Given the description of an element on the screen output the (x, y) to click on. 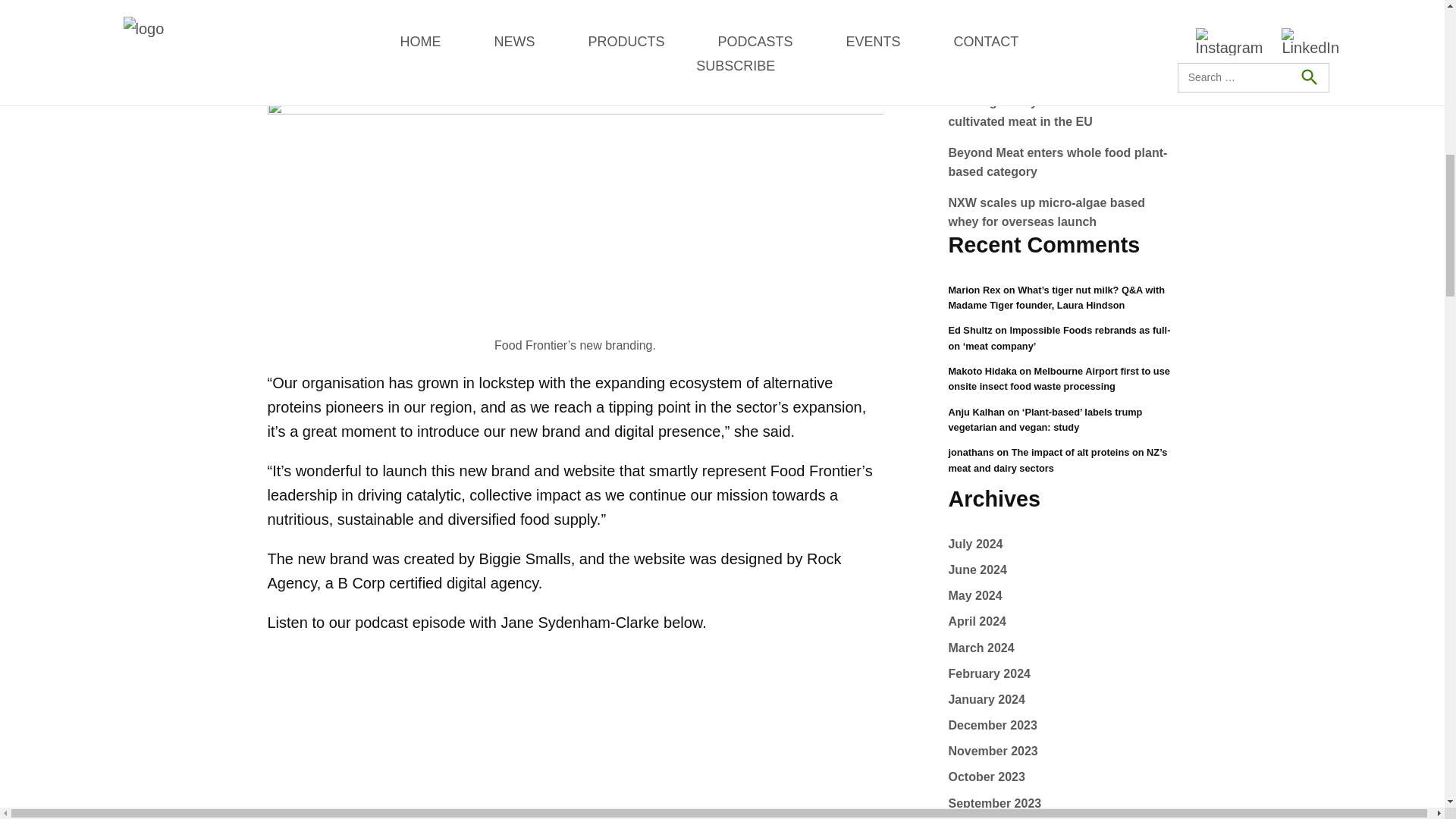
March 2024 (980, 647)
May 2024 (974, 594)
took over from founder Thomas King (645, 21)
jonathans (969, 451)
January 2024 (986, 698)
February 2024 (988, 673)
July 2024 (975, 543)
